Given the description of an element on the screen output the (x, y) to click on. 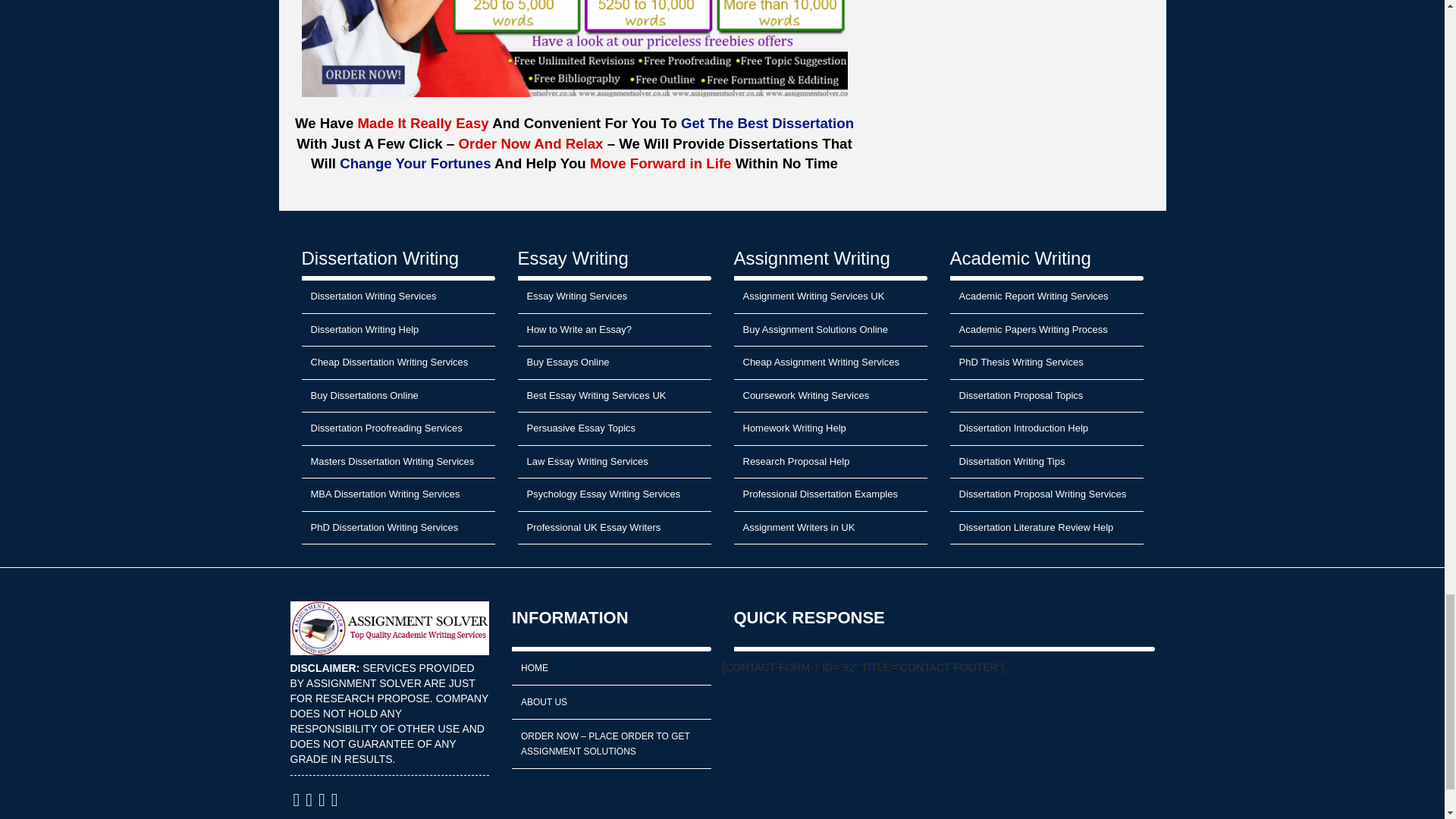
Buy Assignment Solutions Online (830, 330)
Buy Dissertations Online at Affordabl Prices (398, 396)
Masters Dissertation Writing Services (398, 462)
Dissertation Proofreading Services (398, 428)
Professional Dissertation Writing Help (398, 330)
Buy Essays Online (613, 363)
Essay Writing Services (613, 296)
Psychology Essay Writing Services (613, 494)
Best Essay Writing Services UK (613, 396)
UK Essay Writers (613, 528)
Law Essay Writing Services (613, 462)
Law Essay Writing Services (613, 462)
Persuasive Essay Topics Help (613, 428)
How to Write an Essay? (613, 330)
PhD Dissertation Writing Services (398, 528)
